Given the description of an element on the screen output the (x, y) to click on. 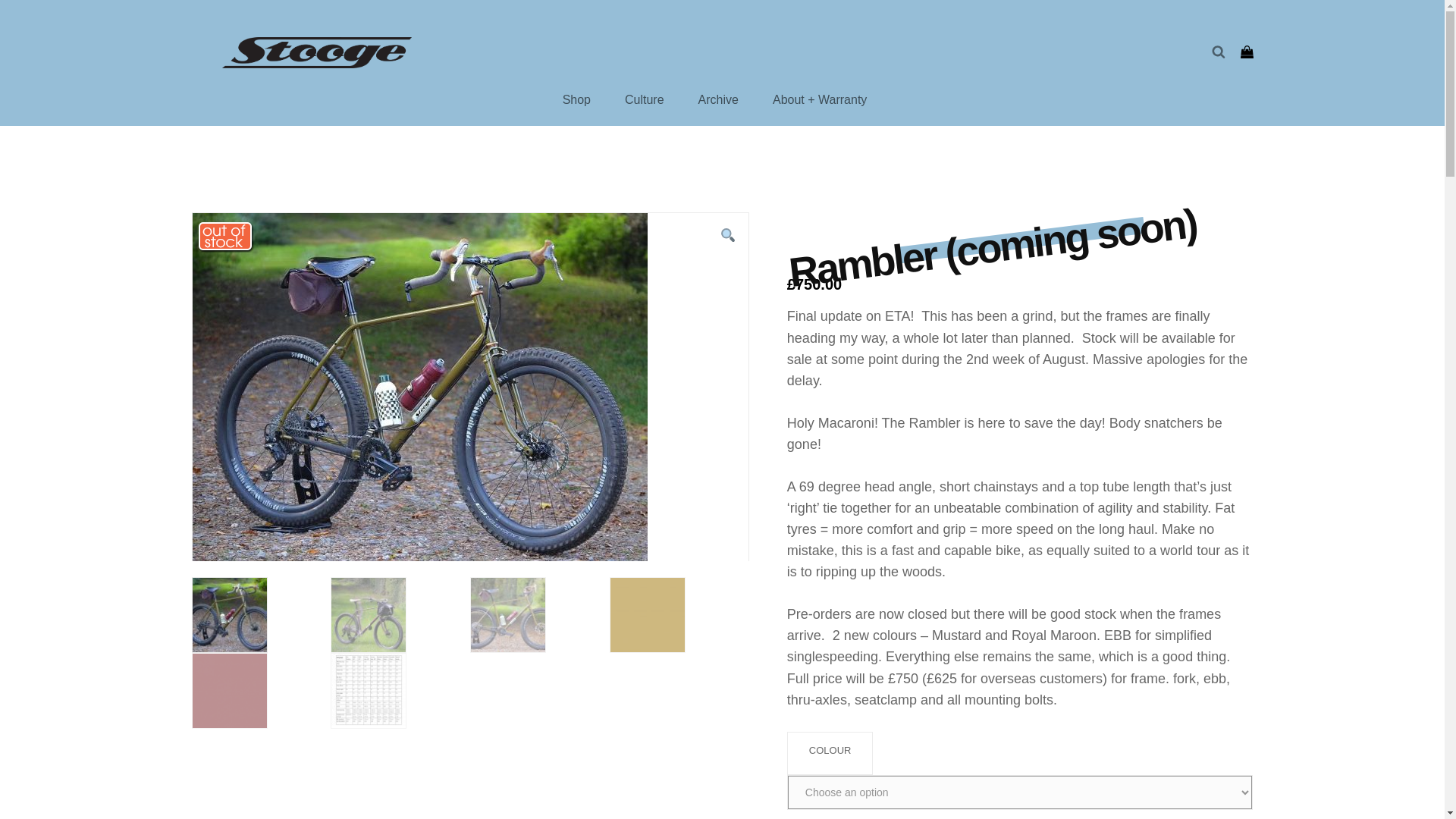
Frames (245, 186)
Archive (718, 100)
Culture (644, 100)
View your shopping cart (1246, 51)
Home (204, 186)
STOOGE CYCLES (360, 51)
Steel (285, 186)
Shop (576, 100)
